Given the description of an element on the screen output the (x, y) to click on. 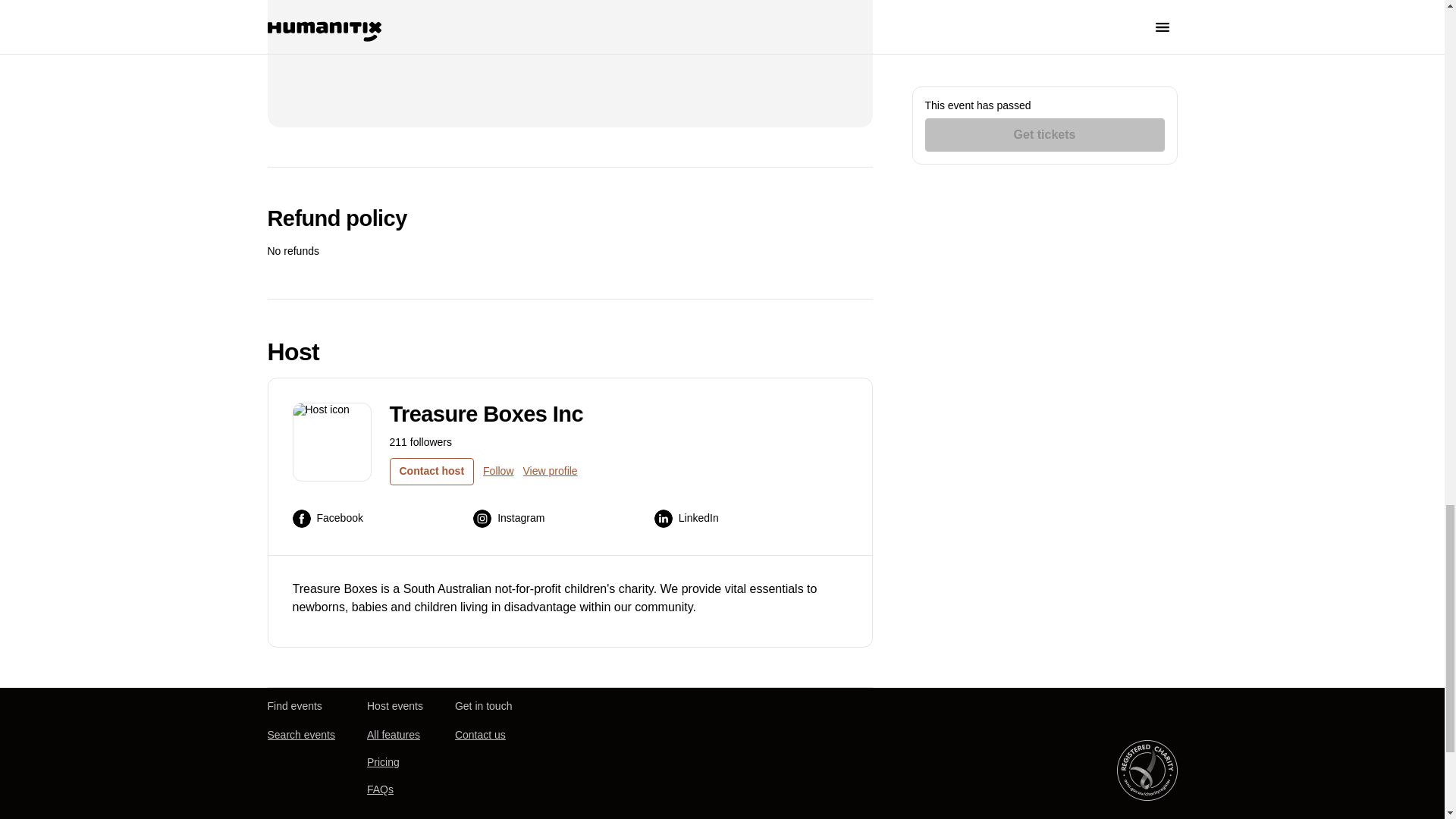
Contact host (432, 471)
Pricing (382, 761)
View profile (550, 471)
All features (393, 734)
Follow (498, 471)
Facebook (327, 518)
Search events (300, 734)
FAQs (379, 789)
LinkedIn (686, 518)
Instagram (508, 518)
